Given the description of an element on the screen output the (x, y) to click on. 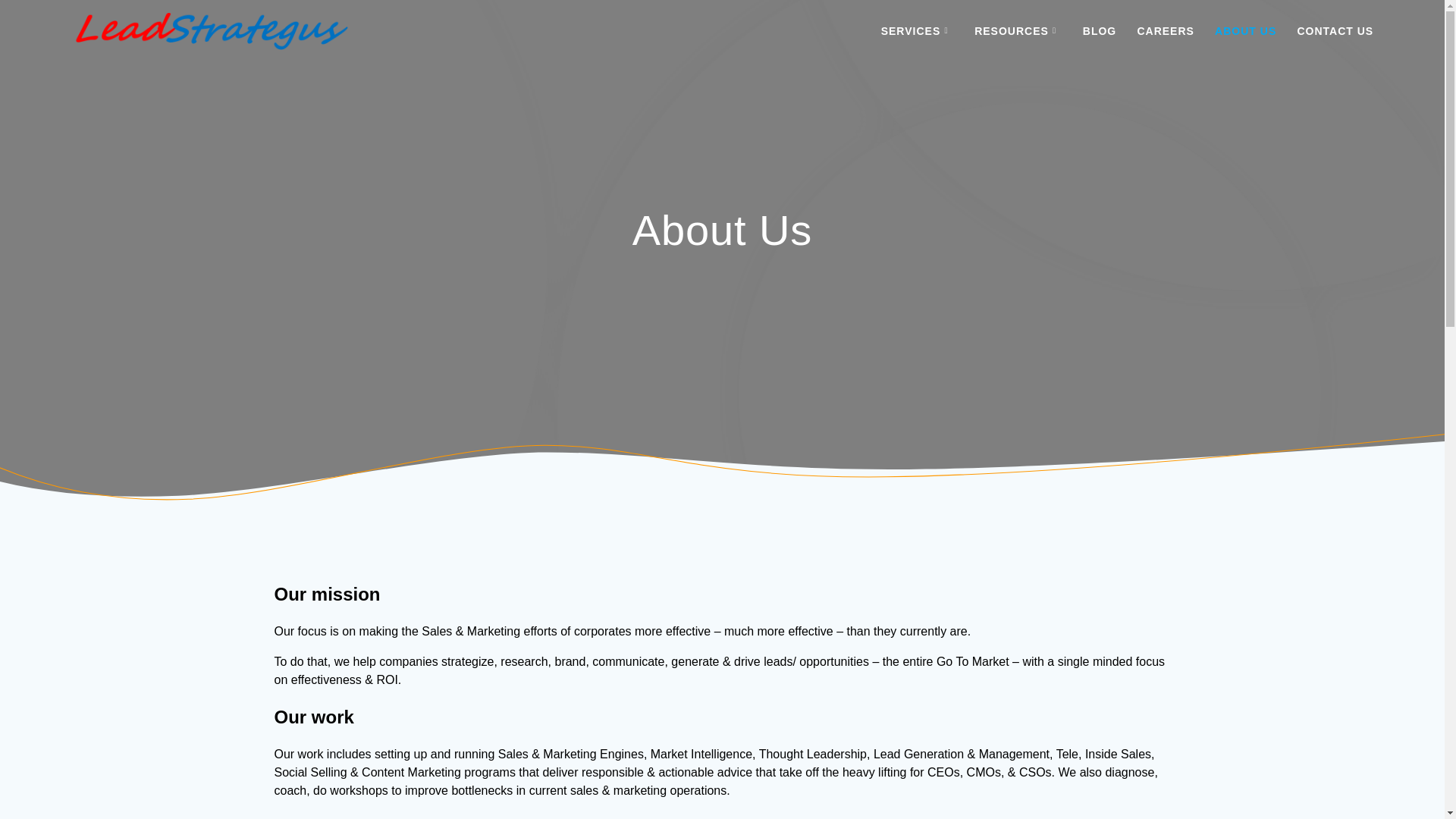
CONTACT US (1335, 30)
RESOURCES (1017, 30)
SERVICES (916, 30)
ABOUT US (1245, 30)
BLOG (1099, 30)
CAREERS (1165, 30)
